Given the description of an element on the screen output the (x, y) to click on. 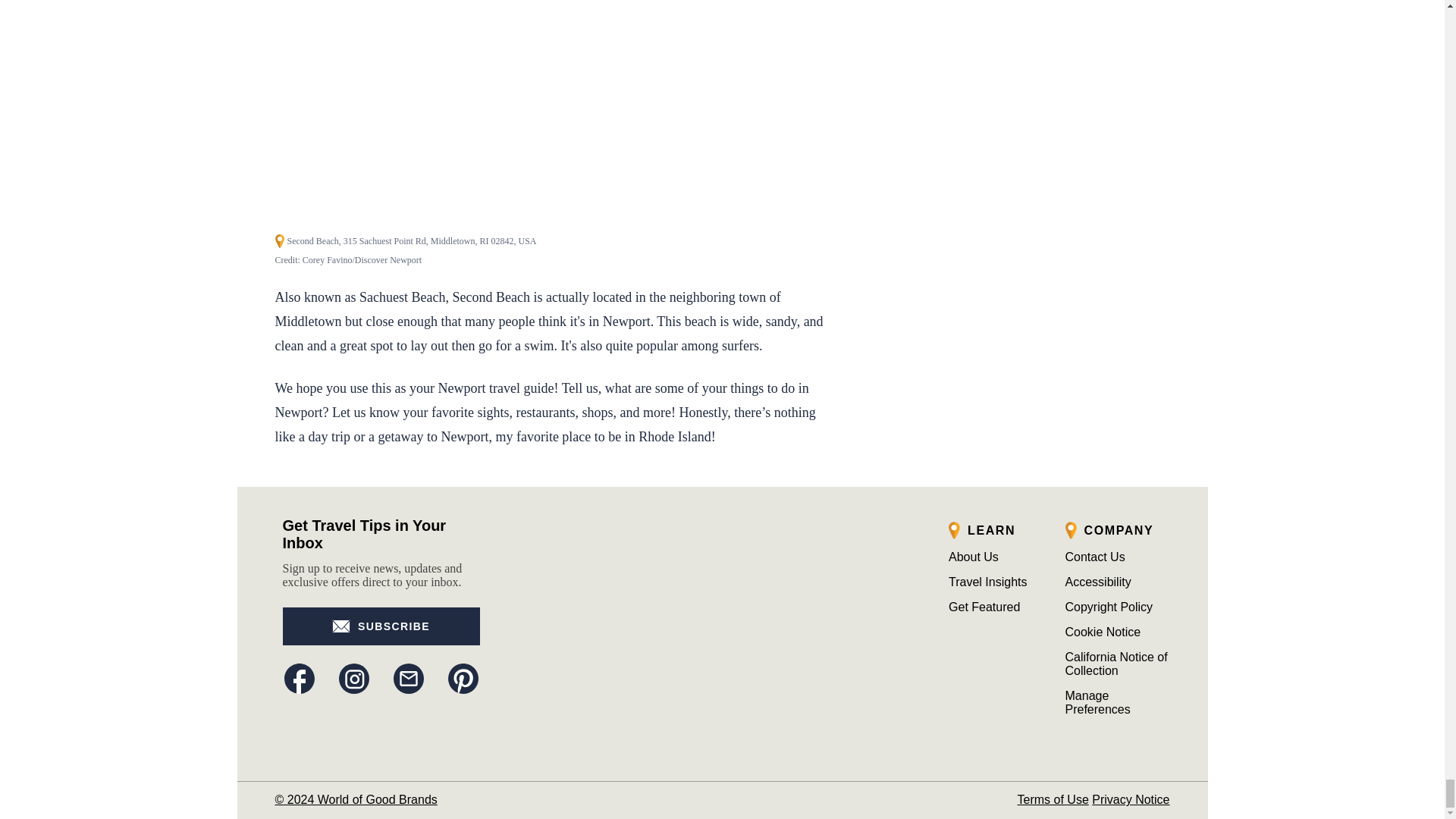
facebook (298, 678)
